Given the description of an element on the screen output the (x, y) to click on. 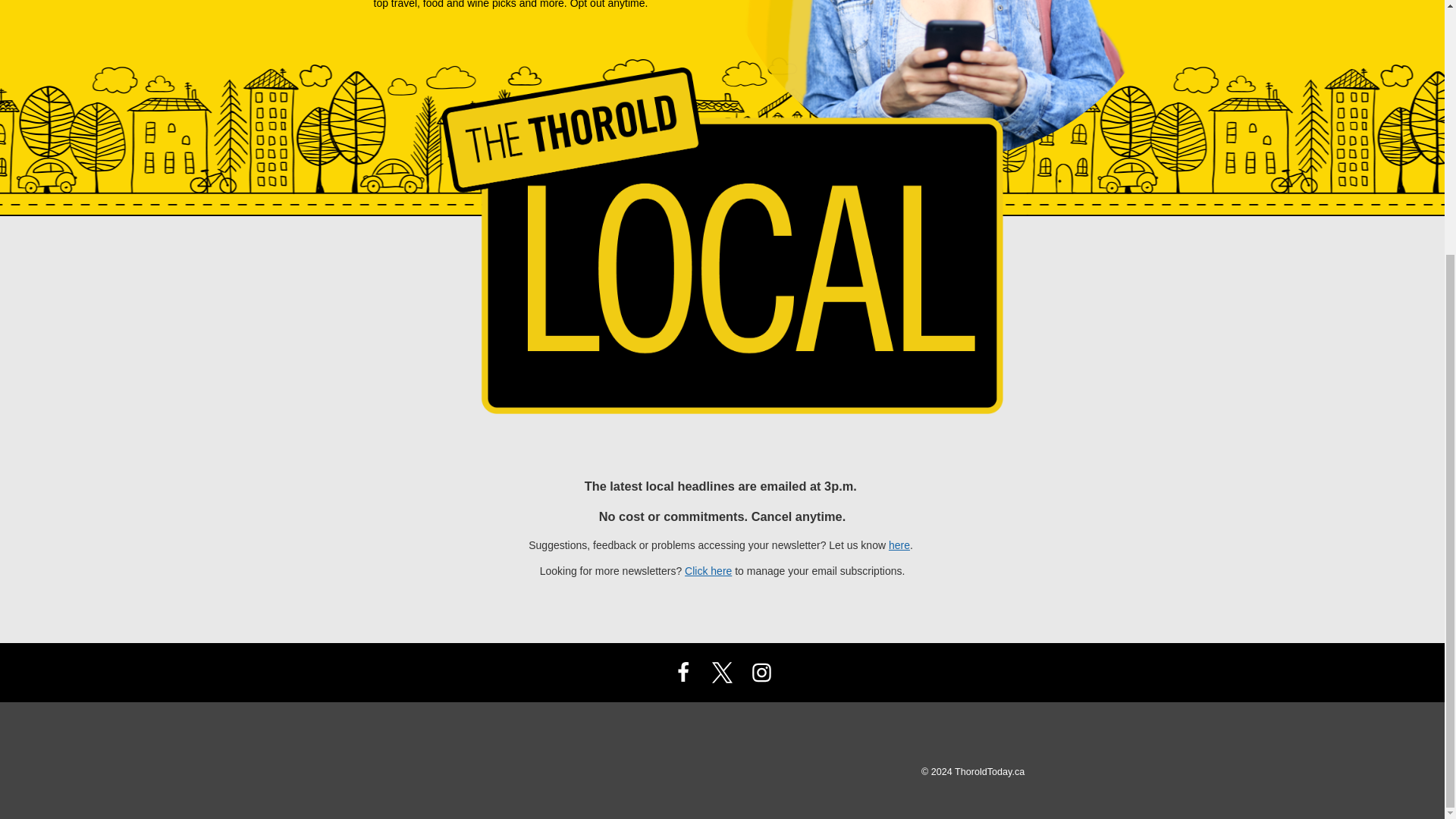
Facebook (683, 671)
X (721, 671)
Instagram (760, 671)
